Given the description of an element on the screen output the (x, y) to click on. 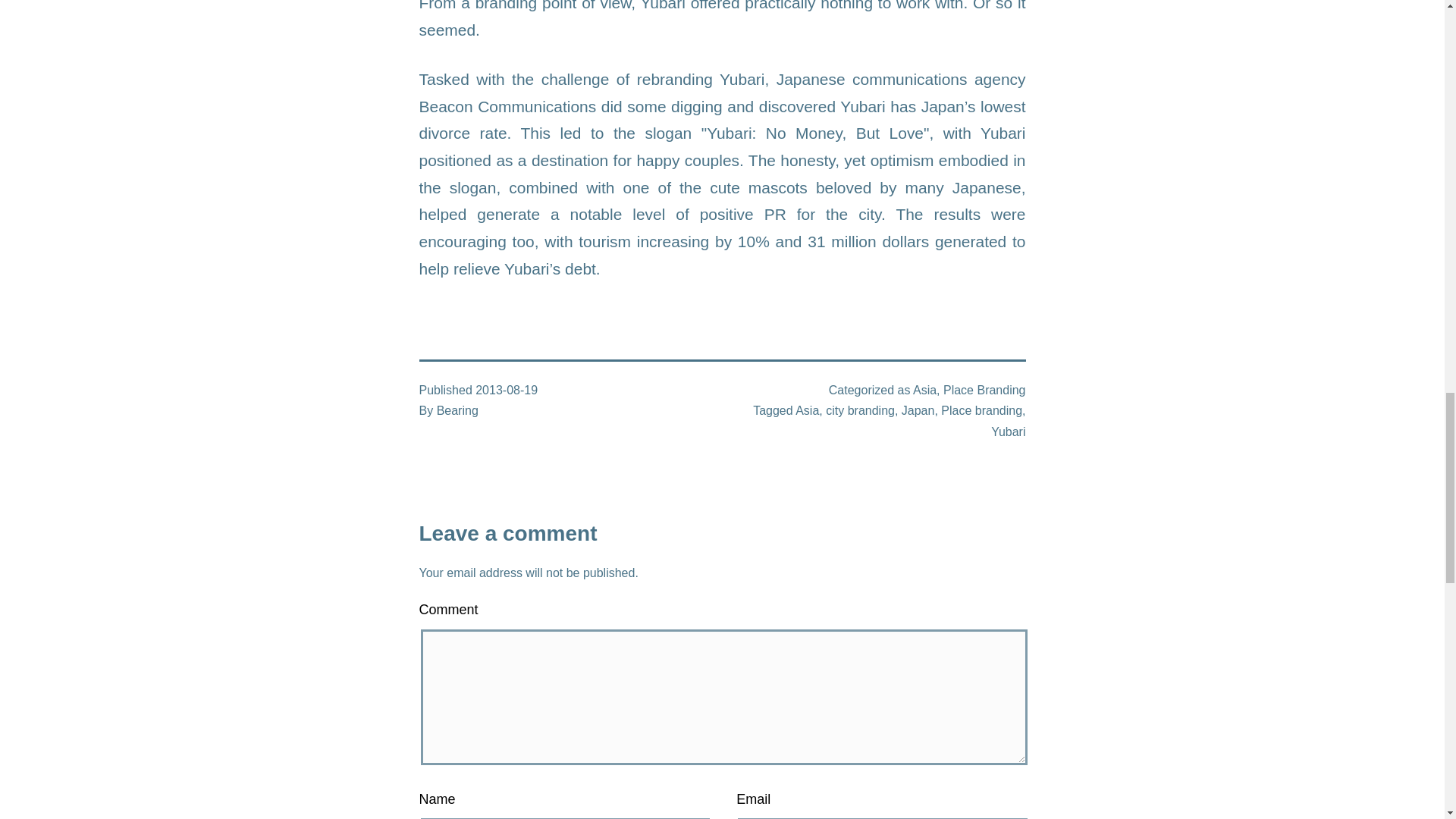
Place branding (981, 410)
"Yubari: No Money, But Love" (815, 132)
city branding (860, 410)
Asia (806, 410)
Bearing (457, 410)
Asia (924, 390)
Japan (917, 410)
Place Branding (984, 390)
Yubari (1008, 431)
